Given the description of an element on the screen output the (x, y) to click on. 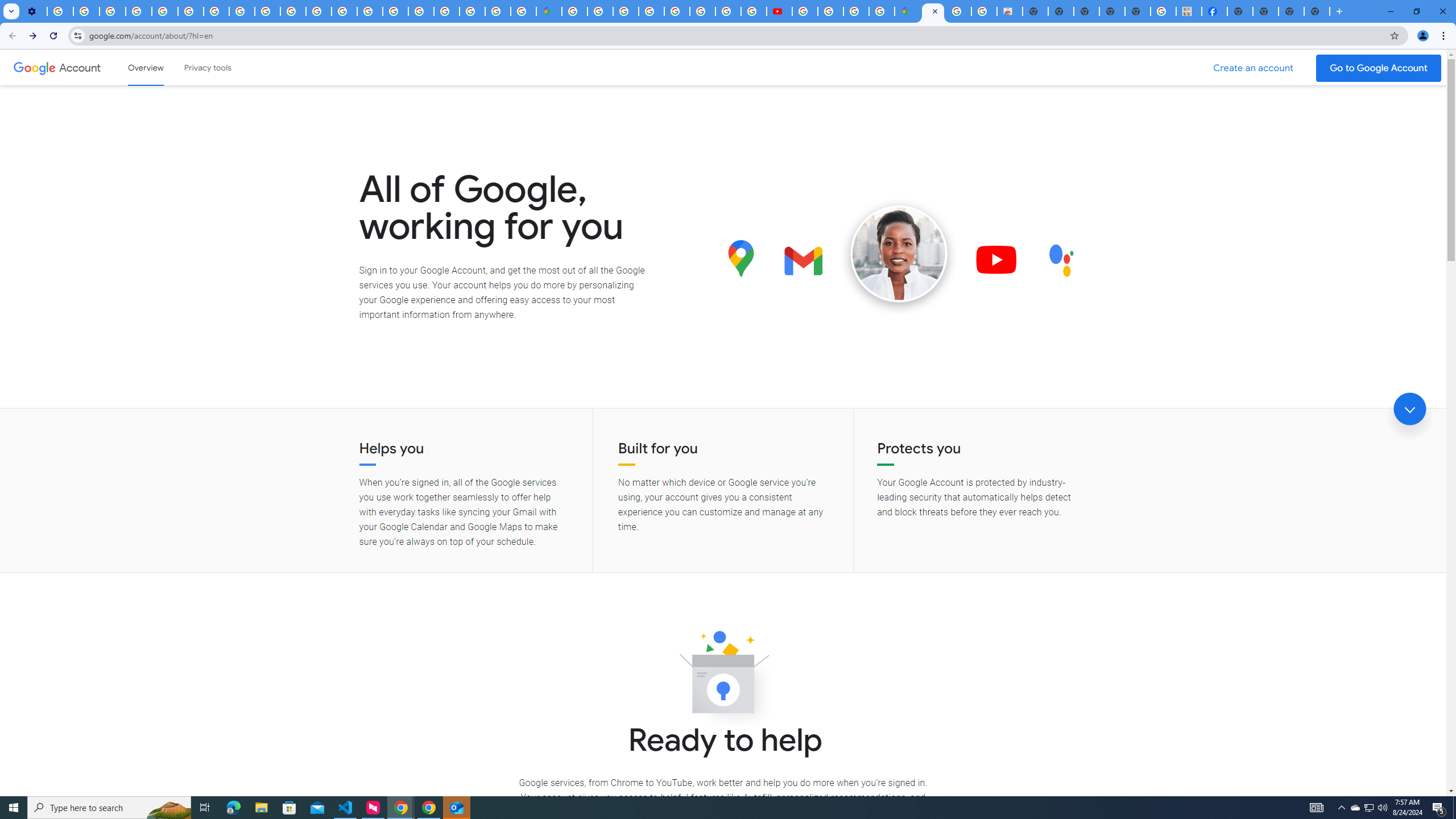
YouTube (190, 11)
Create a Google Account (1253, 67)
Delete photos & videos - Computer - Google Photos Help (60, 11)
Privacy Help Center - Policies Help (344, 11)
Miley Cyrus | Facebook (1213, 11)
Privacy tools (207, 67)
Google Maps (907, 11)
